Given the description of an element on the screen output the (x, y) to click on. 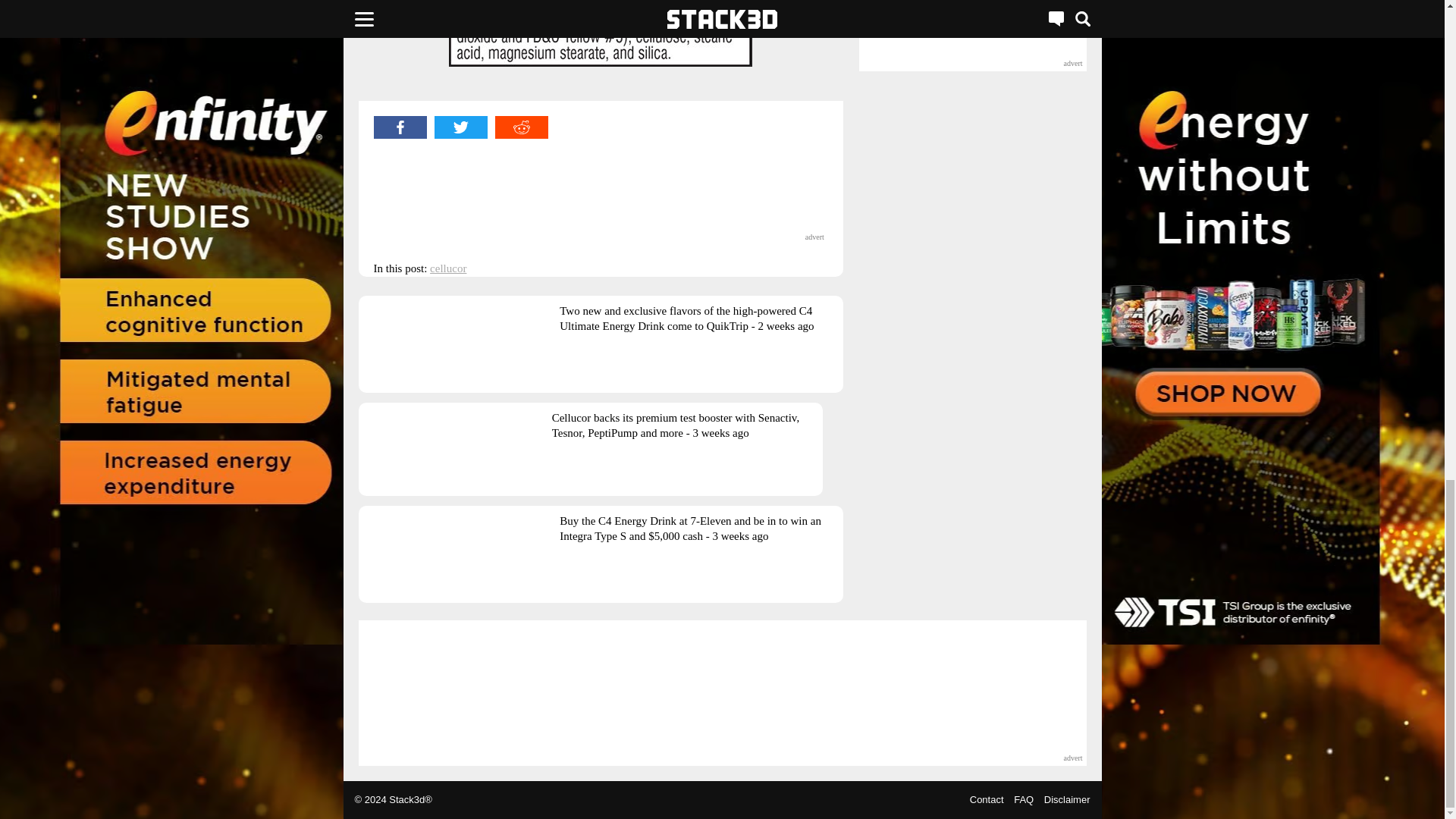
cellucor (447, 268)
